Given the description of an element on the screen output the (x, y) to click on. 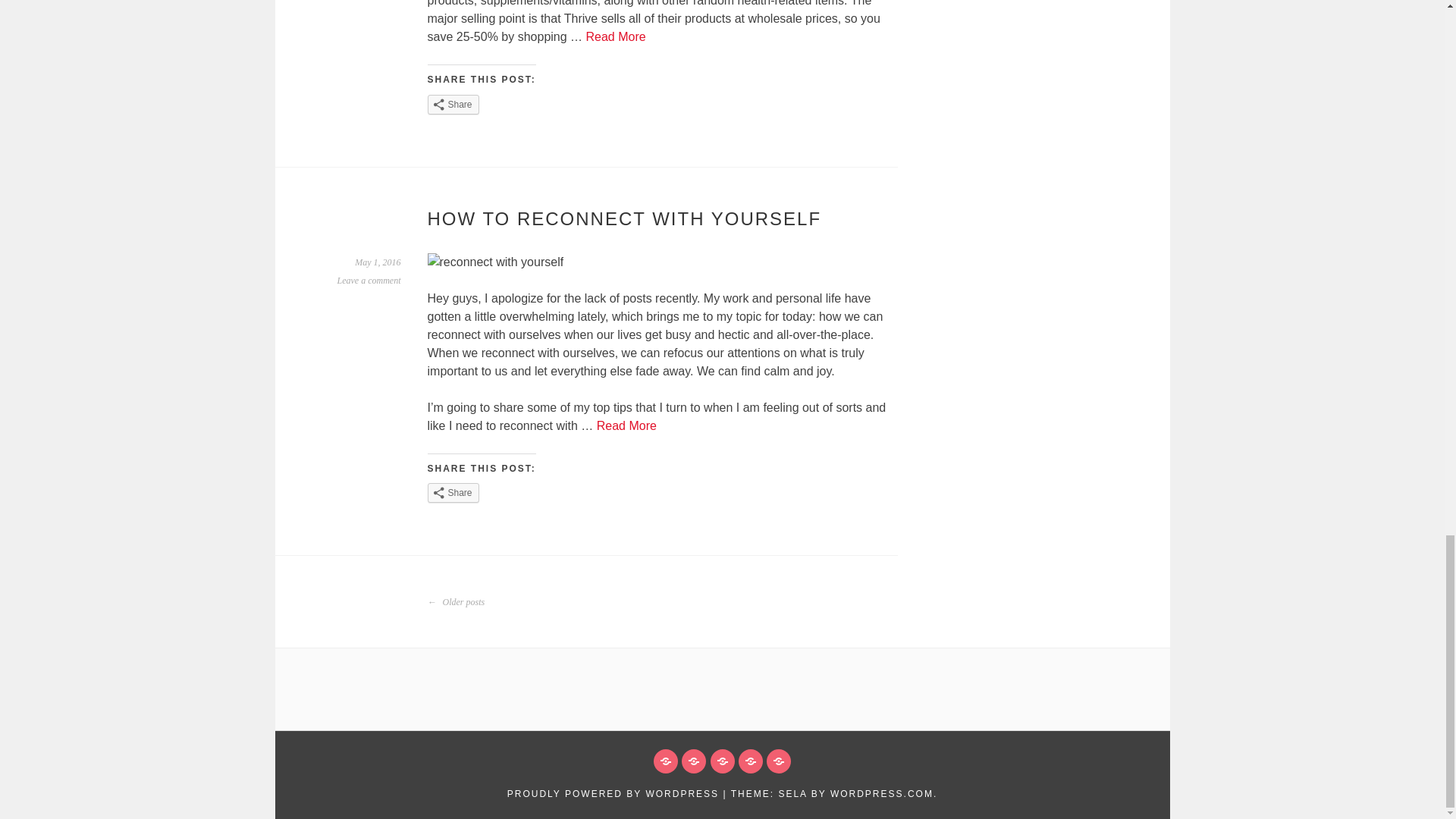
Read More (616, 36)
Share (453, 104)
